Given the description of an element on the screen output the (x, y) to click on. 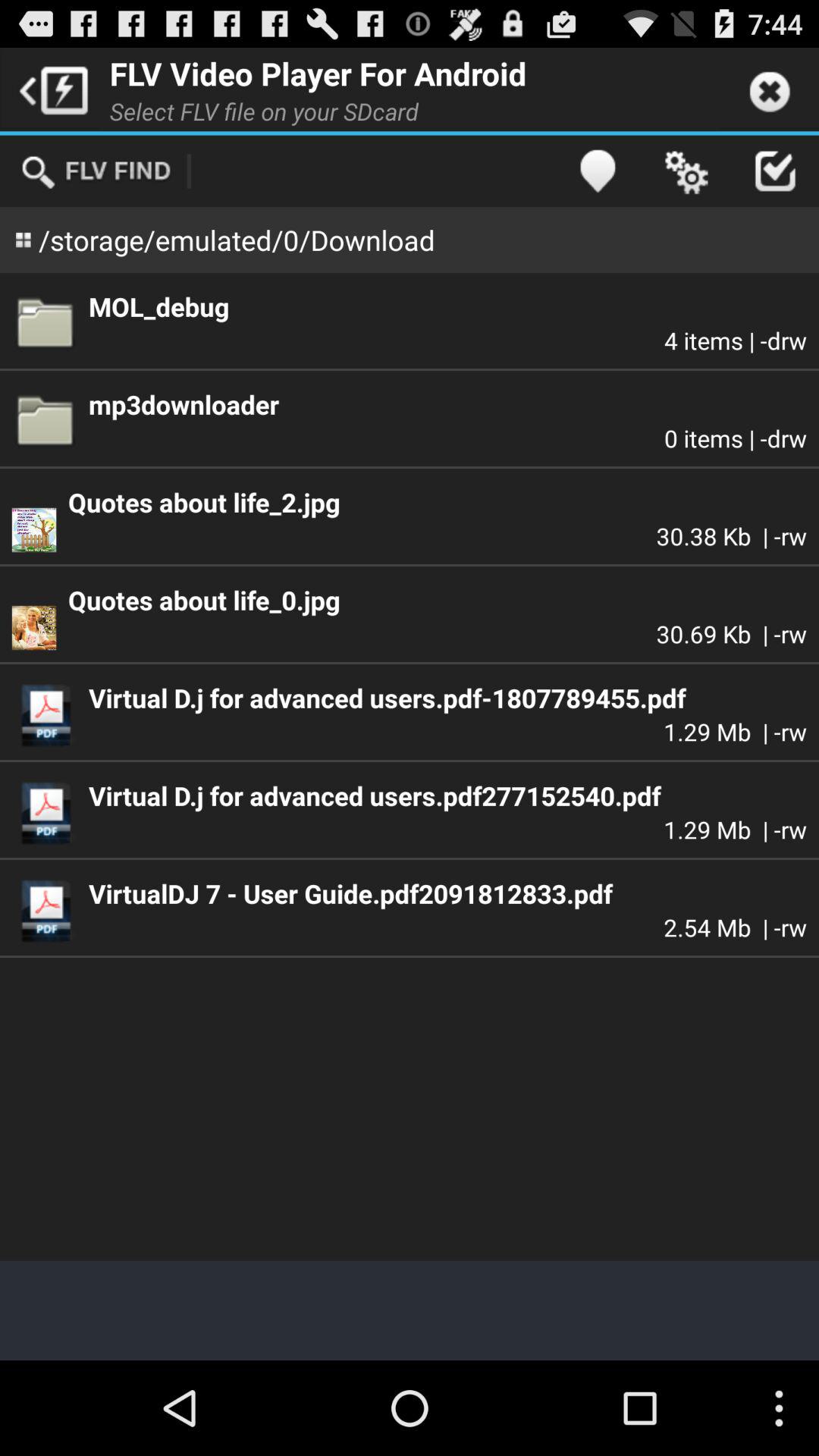
click item above the mol_debug app (774, 171)
